Given the description of an element on the screen output the (x, y) to click on. 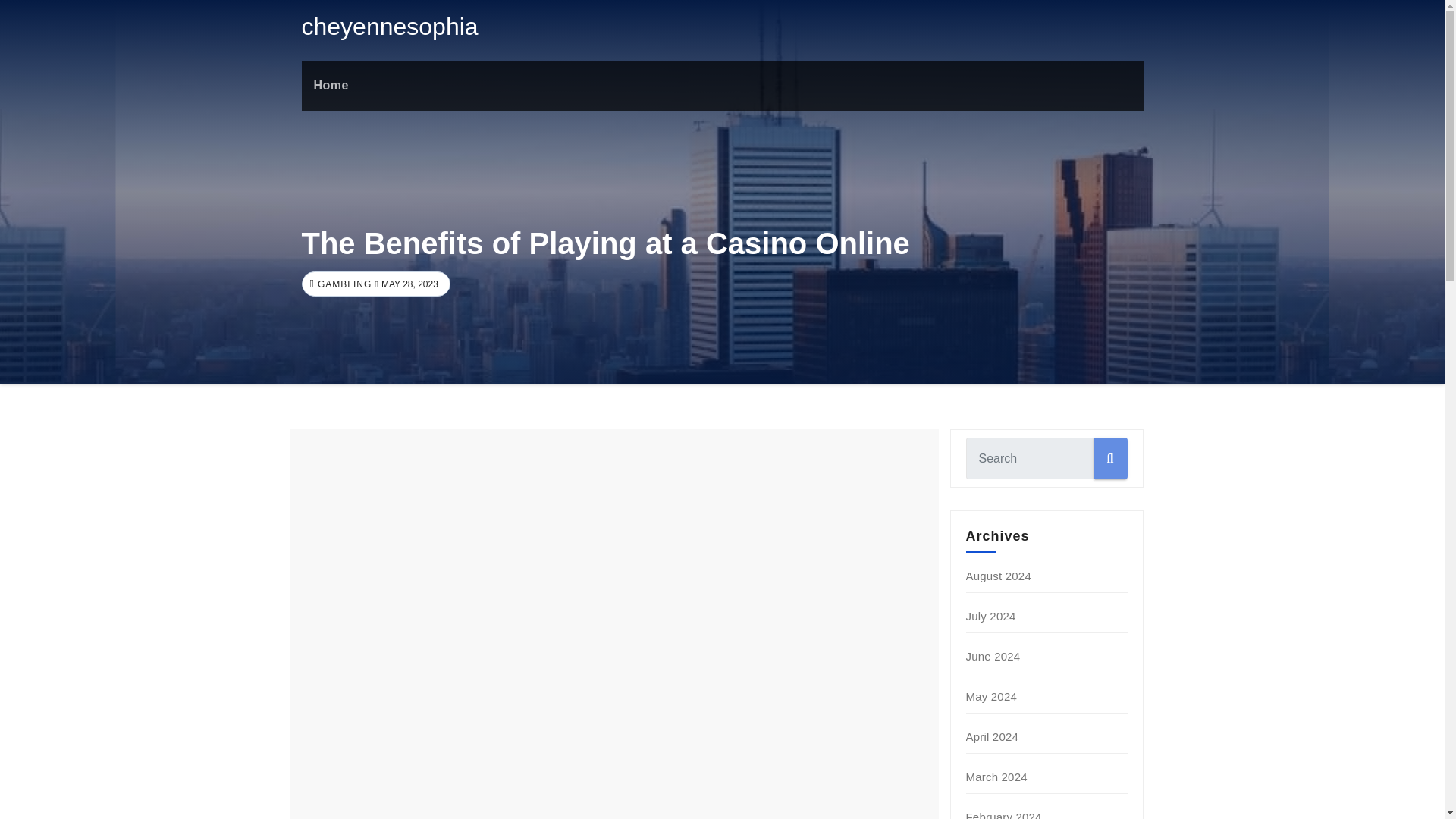
Home (331, 85)
March 2024 (996, 776)
August 2024 (998, 575)
June 2024 (993, 656)
Home (331, 85)
July 2024 (991, 615)
GAMBLING (342, 284)
February 2024 (1004, 814)
May 2024 (991, 696)
cheyennesophia (390, 26)
April 2024 (992, 736)
